Given the description of an element on the screen output the (x, y) to click on. 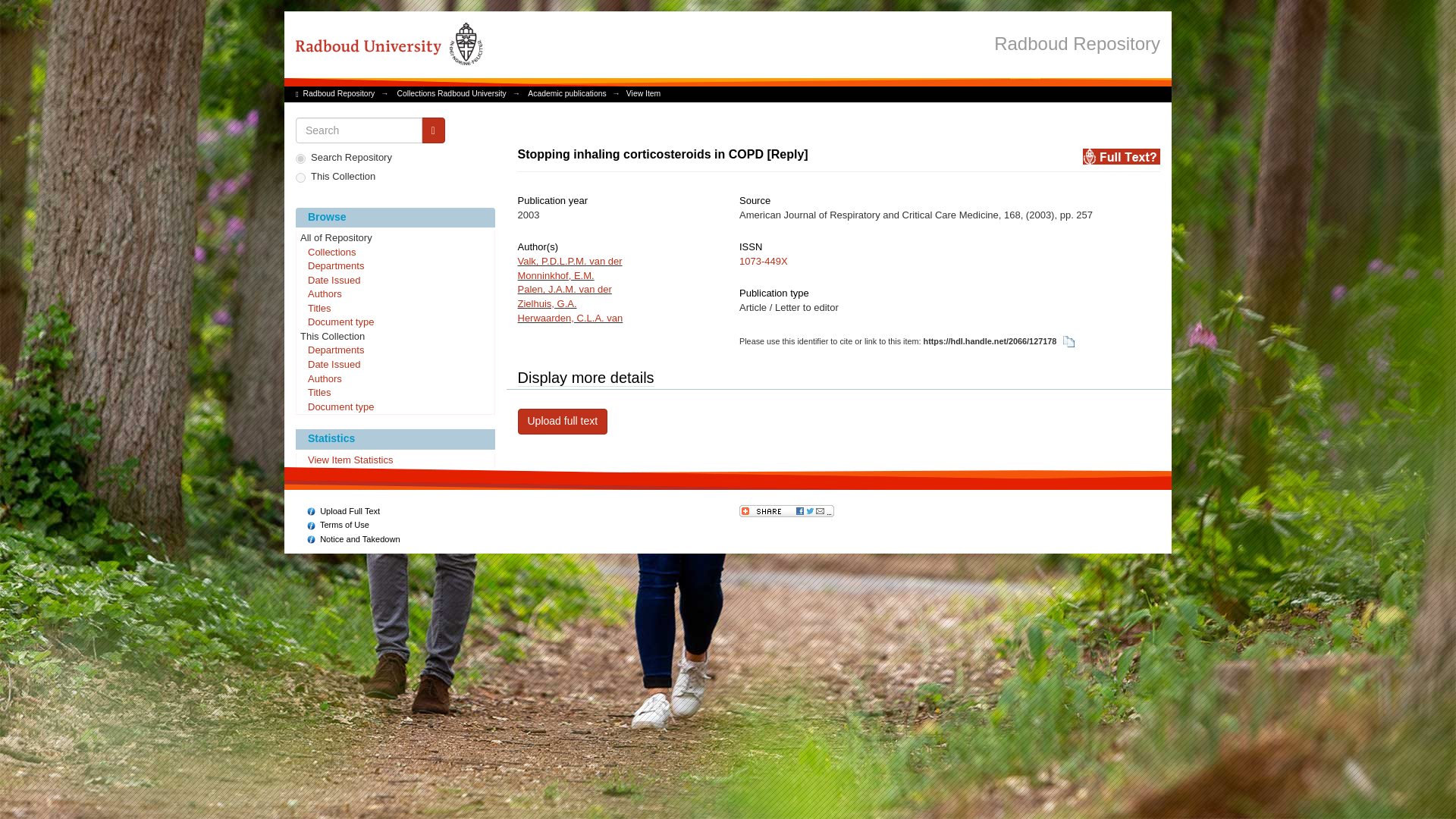
Information about the File Upload (343, 510)
1073-449X (763, 260)
This Collection (395, 337)
Departments (395, 266)
Radboud Repository (338, 93)
Titles (395, 393)
 Upload Full Text (343, 510)
Information about the Notice and Takedown Procedure (353, 538)
Radboud Repository (1077, 43)
Date Issued (395, 365)
